Given the description of an element on the screen output the (x, y) to click on. 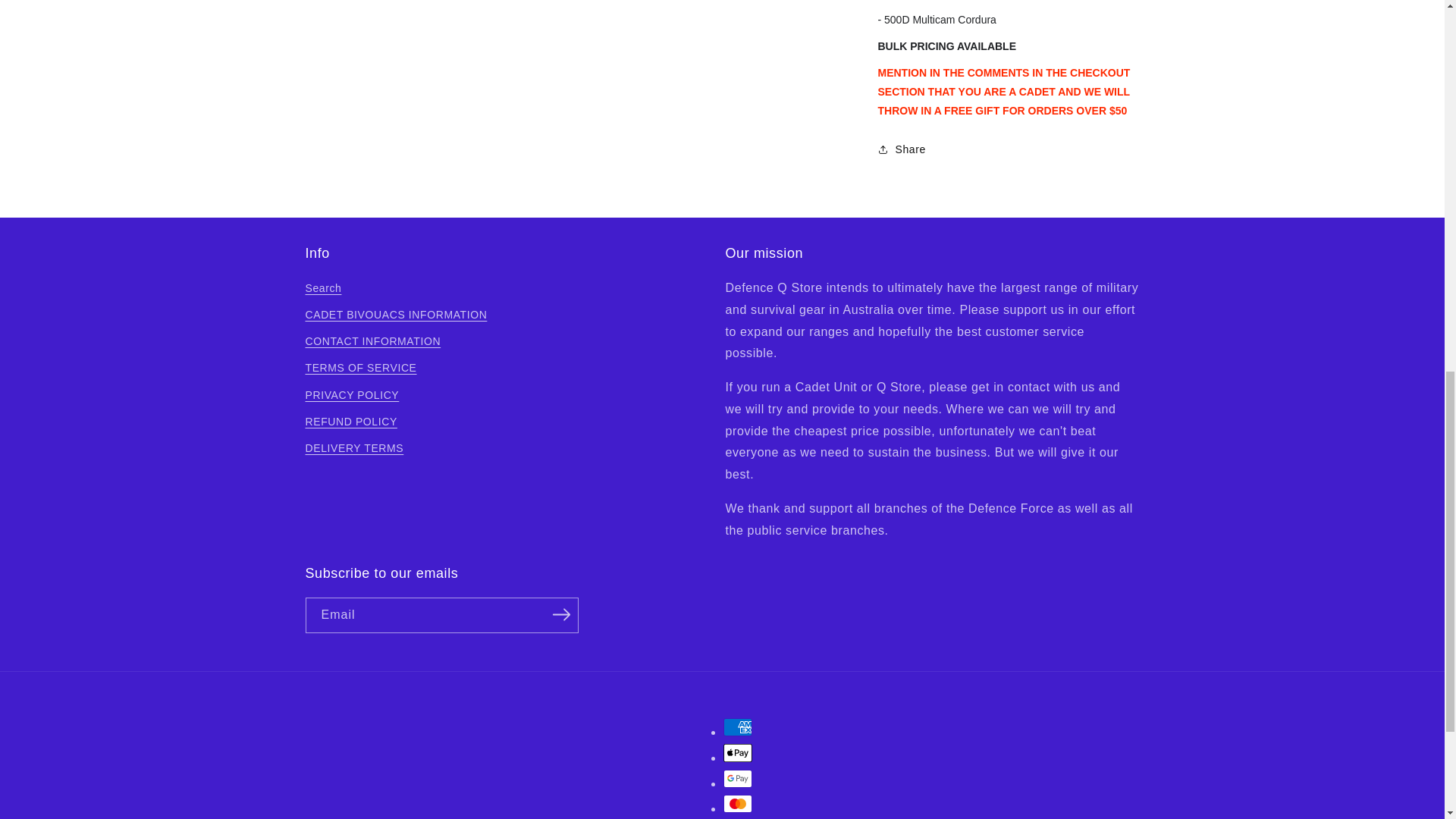
Apple Pay (737, 752)
American Express (737, 727)
Google Pay (737, 778)
Mastercard (737, 803)
